Given the description of an element on the screen output the (x, y) to click on. 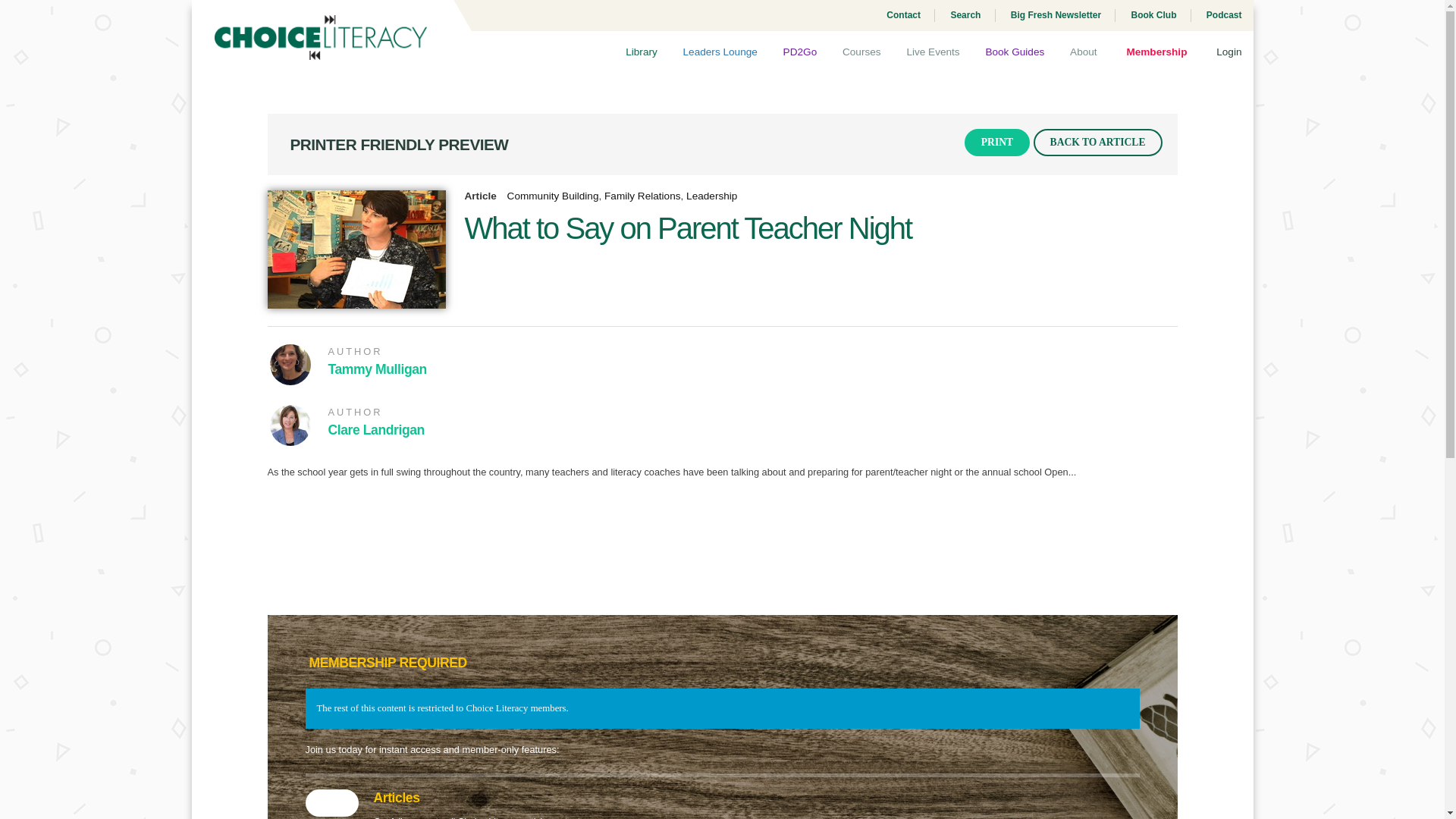
Membership (1156, 53)
Login (1226, 53)
Book Club (1151, 15)
Book Guides (1014, 53)
Clare Landrigan (375, 429)
About (1085, 53)
Leadership (710, 195)
Community Building (552, 195)
Tammy Mulligan (376, 368)
Live Events (933, 53)
BACK TO ARTICLE (1097, 142)
PRINT (996, 142)
Family Relations (641, 195)
Courses (861, 53)
Leaders Lounge (719, 53)
